Given the description of an element on the screen output the (x, y) to click on. 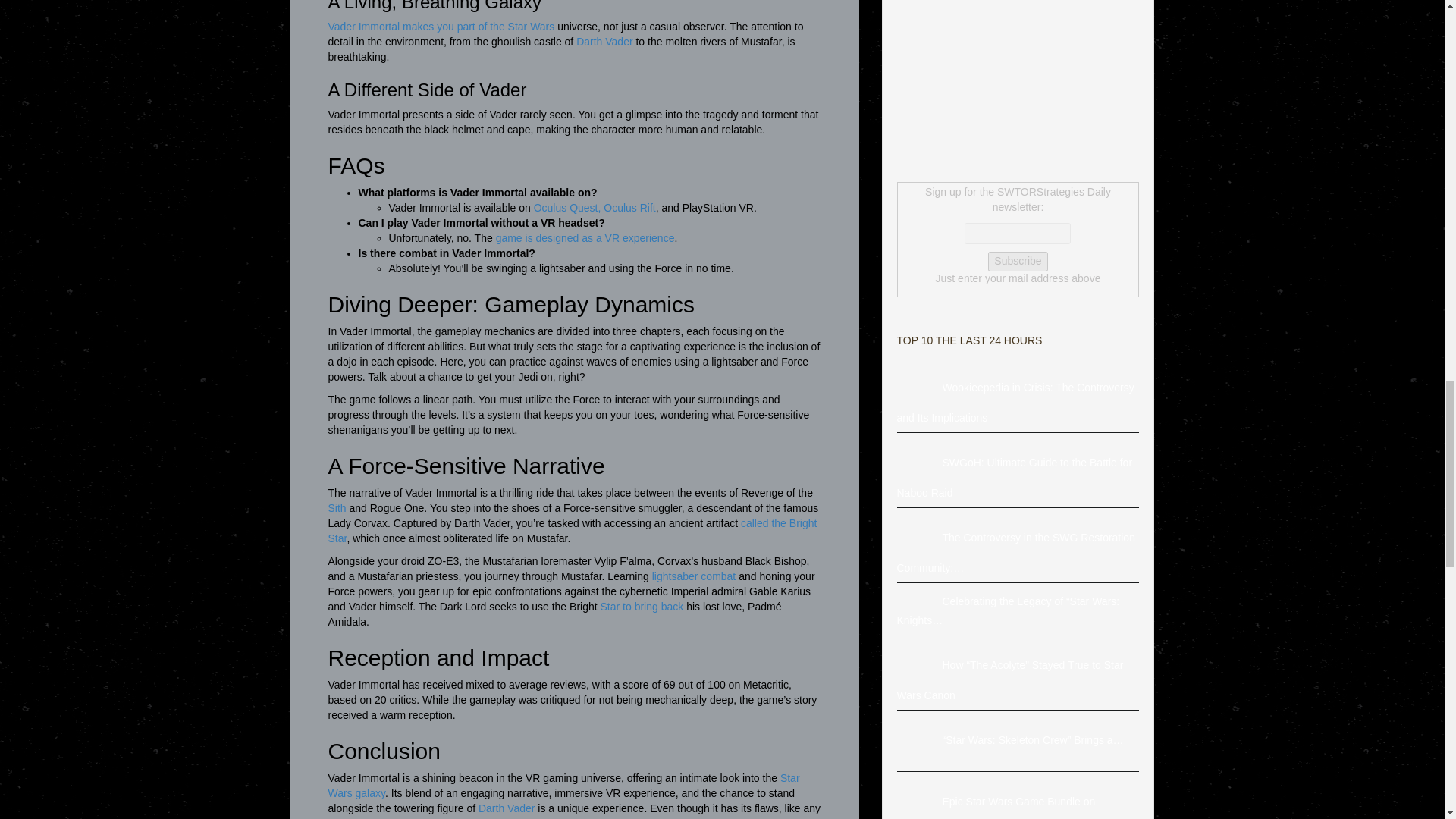
Subscribe (1017, 261)
Wookieepedia in Crisis: The Controversy and Its Implications (919, 388)
Sith (336, 508)
SWGoH: Ultimate Guide to the Battle for Naboo Raid (919, 462)
